Given the description of an element on the screen output the (x, y) to click on. 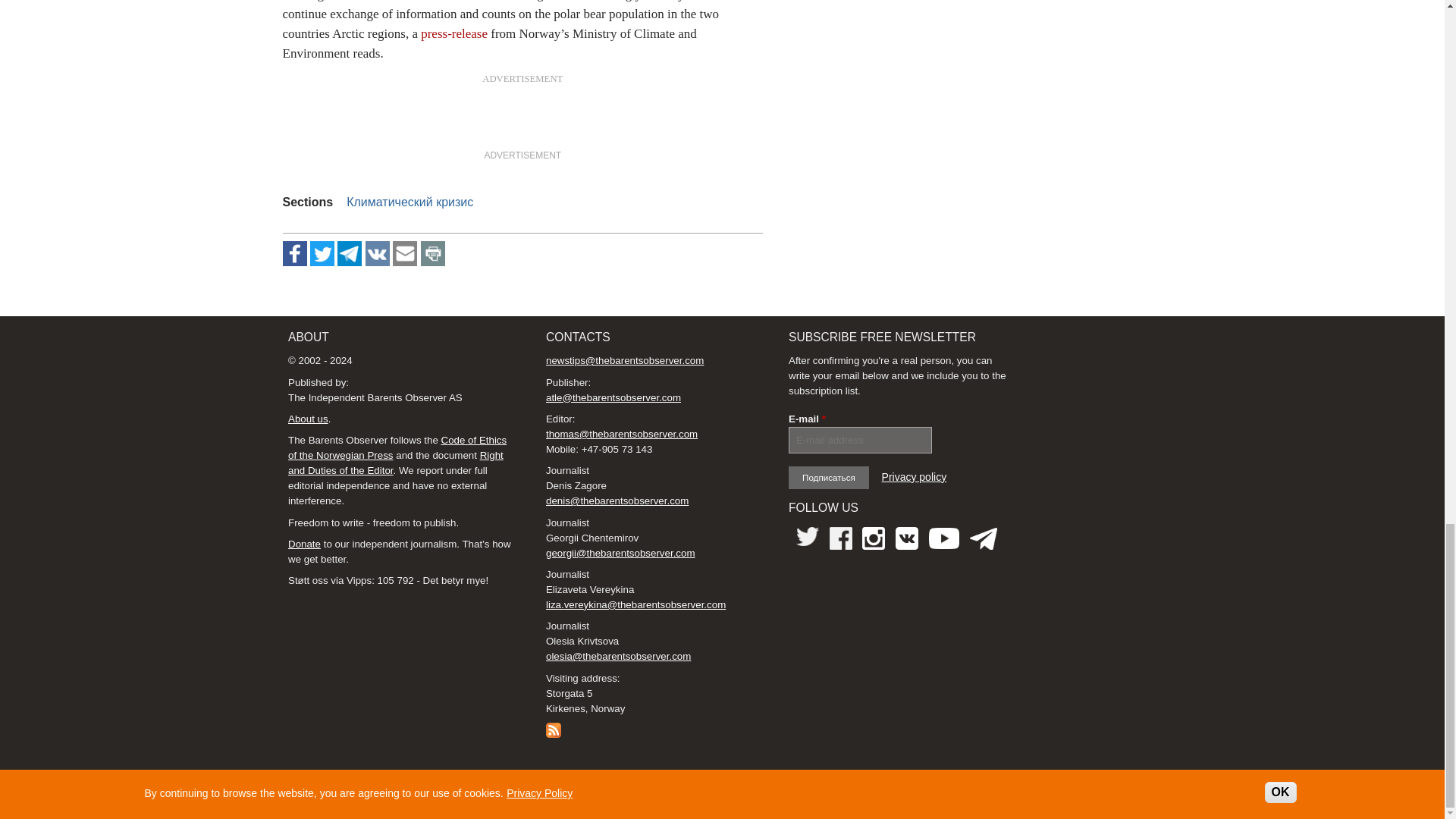
press-release (453, 33)
